Given the description of an element on the screen output the (x, y) to click on. 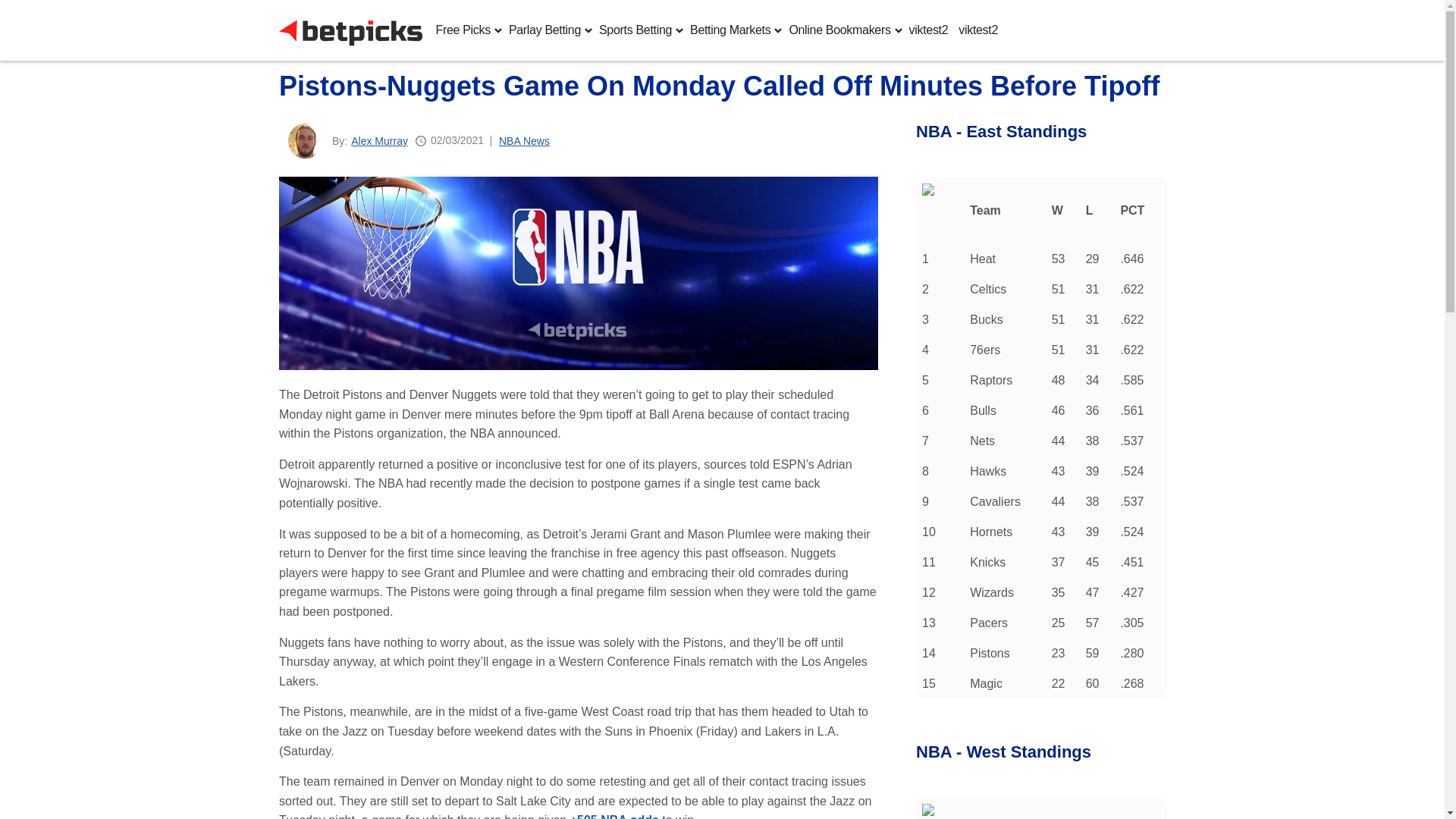
Parlay Betting (545, 30)
BetPicks CA (351, 29)
Free Picks (463, 30)
